Given the description of an element on the screen output the (x, y) to click on. 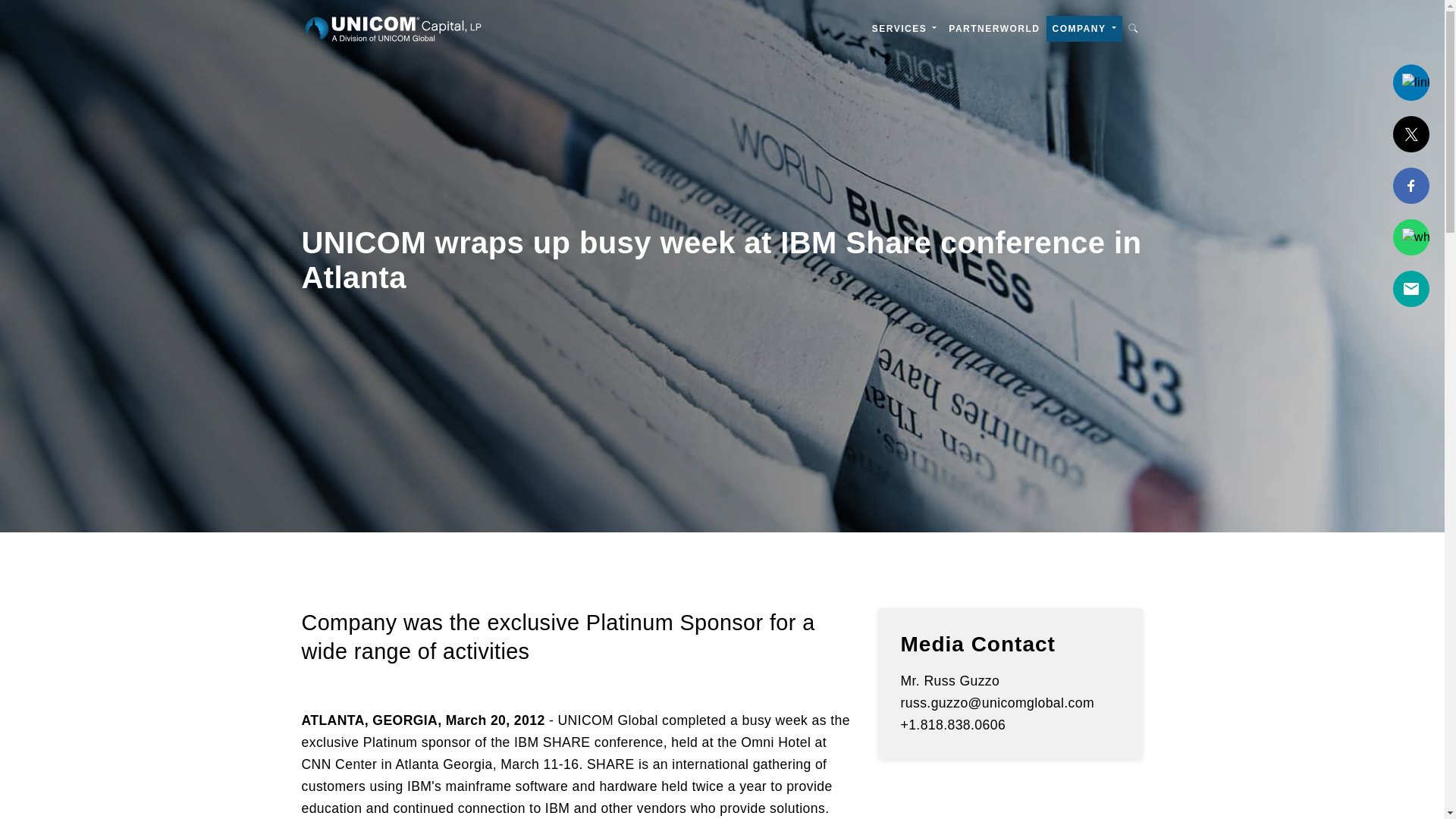
SERVICES (904, 27)
PARTNERWORLD (993, 27)
COMPANY (1084, 27)
UNICOM Capital, LP (392, 28)
